Given the description of an element on the screen output the (x, y) to click on. 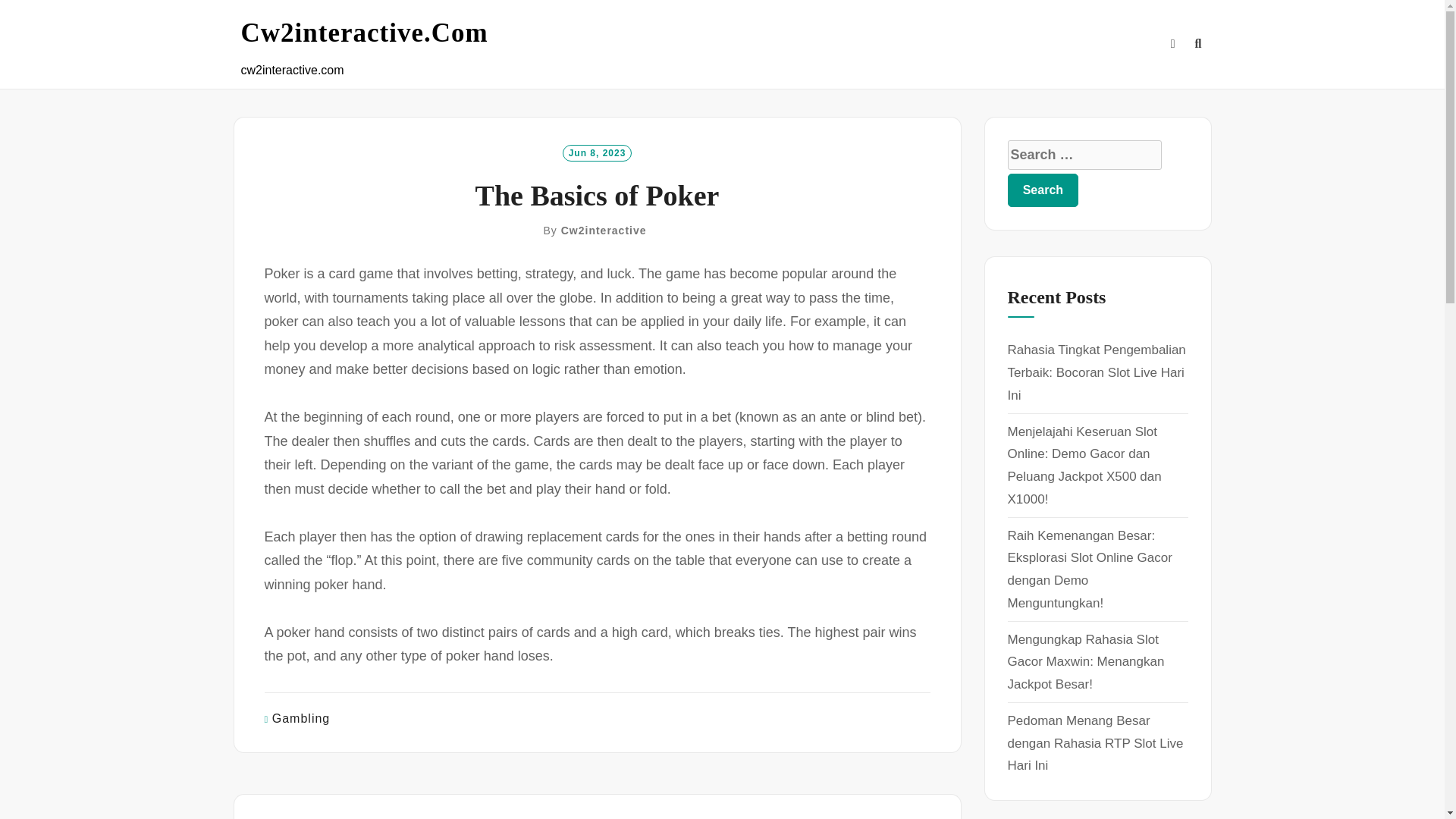
Search (1042, 190)
Cw2interactive.Com (364, 33)
Search (1042, 190)
Jun 8, 2023 (596, 152)
Cw2interactive (603, 230)
Gambling (301, 717)
